Given the description of an element on the screen output the (x, y) to click on. 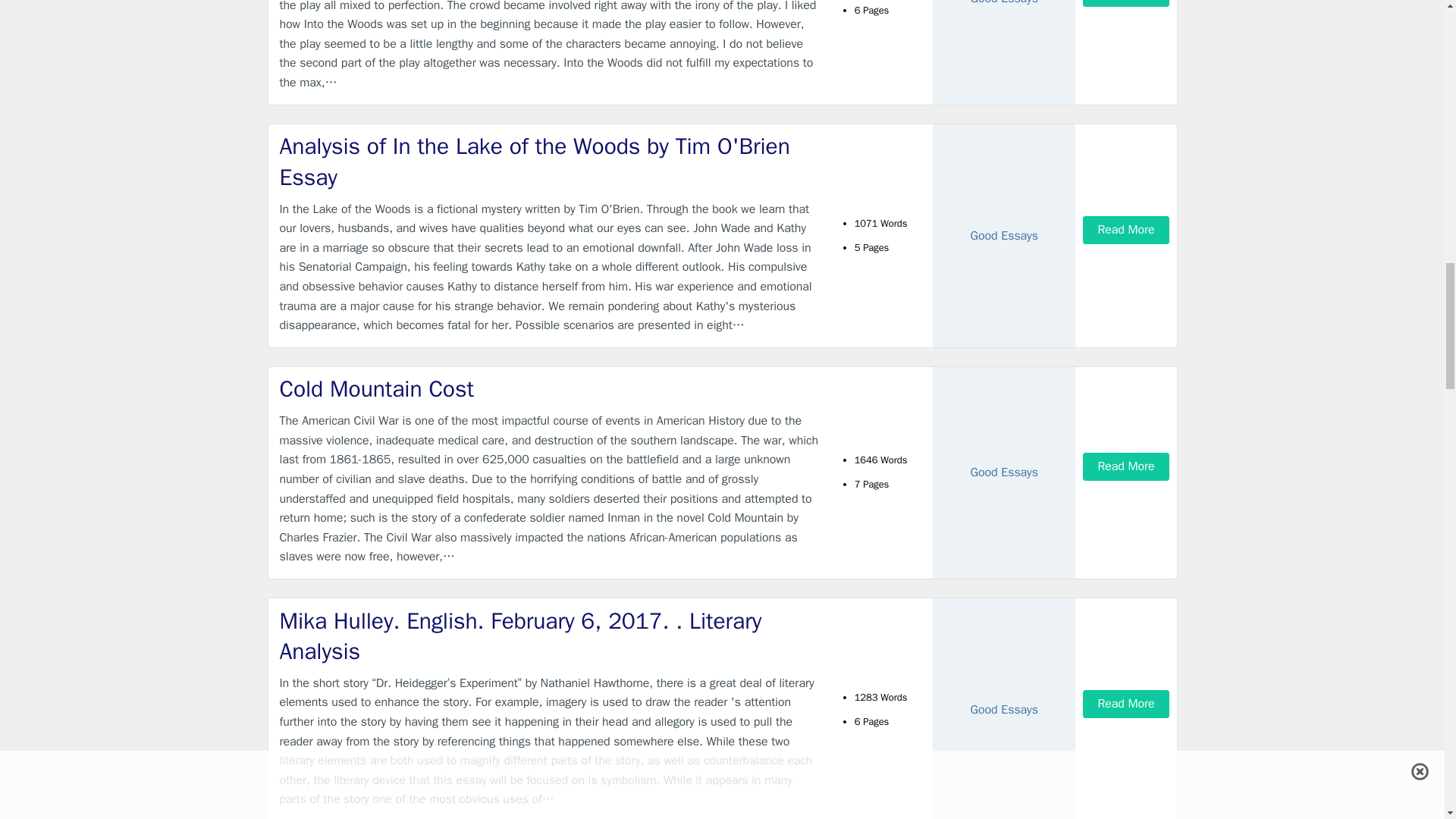
Read More (1126, 3)
Read More (1126, 704)
Cold Mountain Cost (548, 388)
Analysis of In the Lake of the Woods by Tim O'Brien Essay (548, 161)
Read More (1126, 230)
Mika Hulley. English. February 6, 2017. . Literary Analysis (548, 636)
Read More (1126, 466)
